Given the description of an element on the screen output the (x, y) to click on. 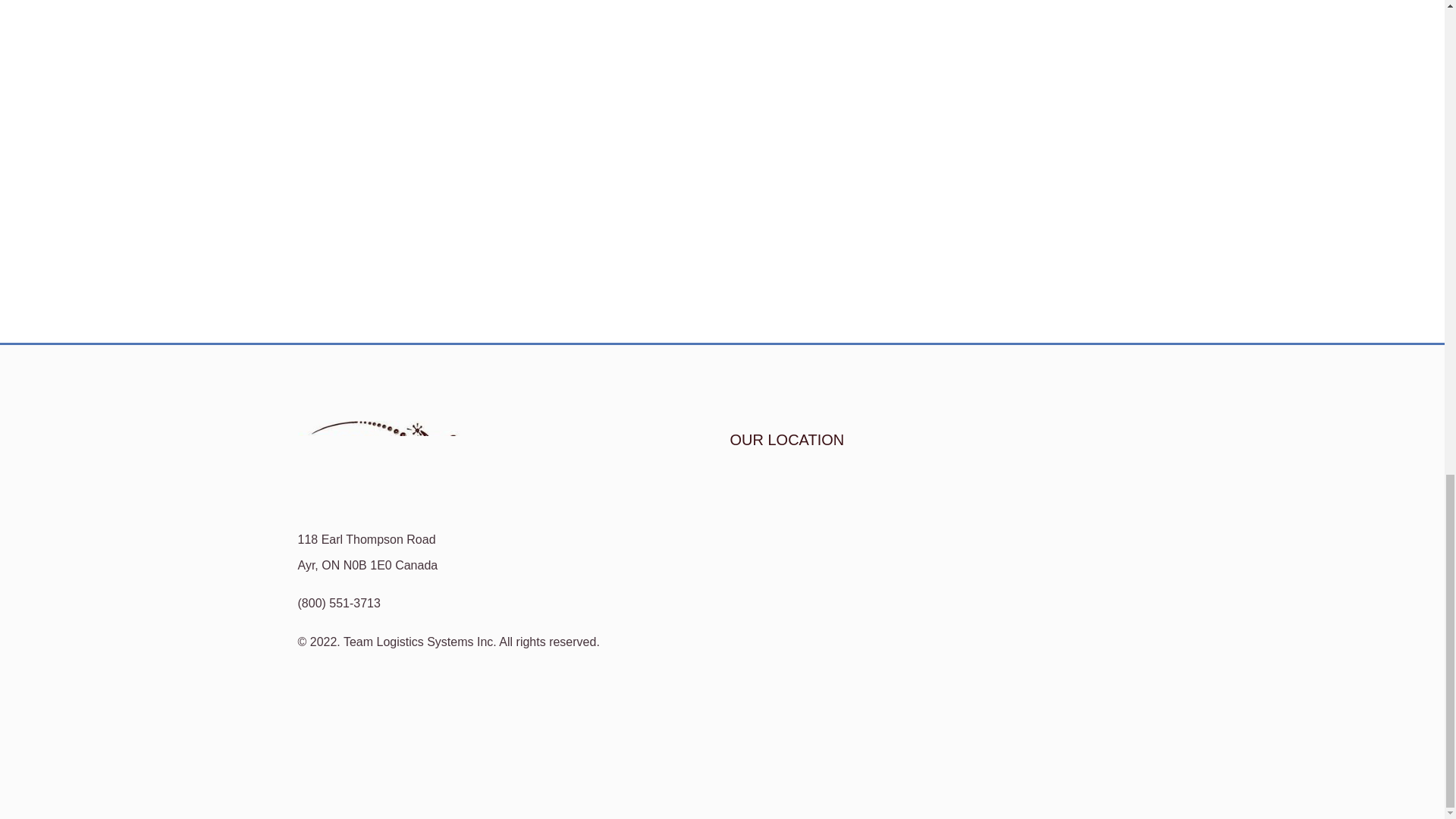
team logistics (938, 587)
